Given the description of an element on the screen output the (x, y) to click on. 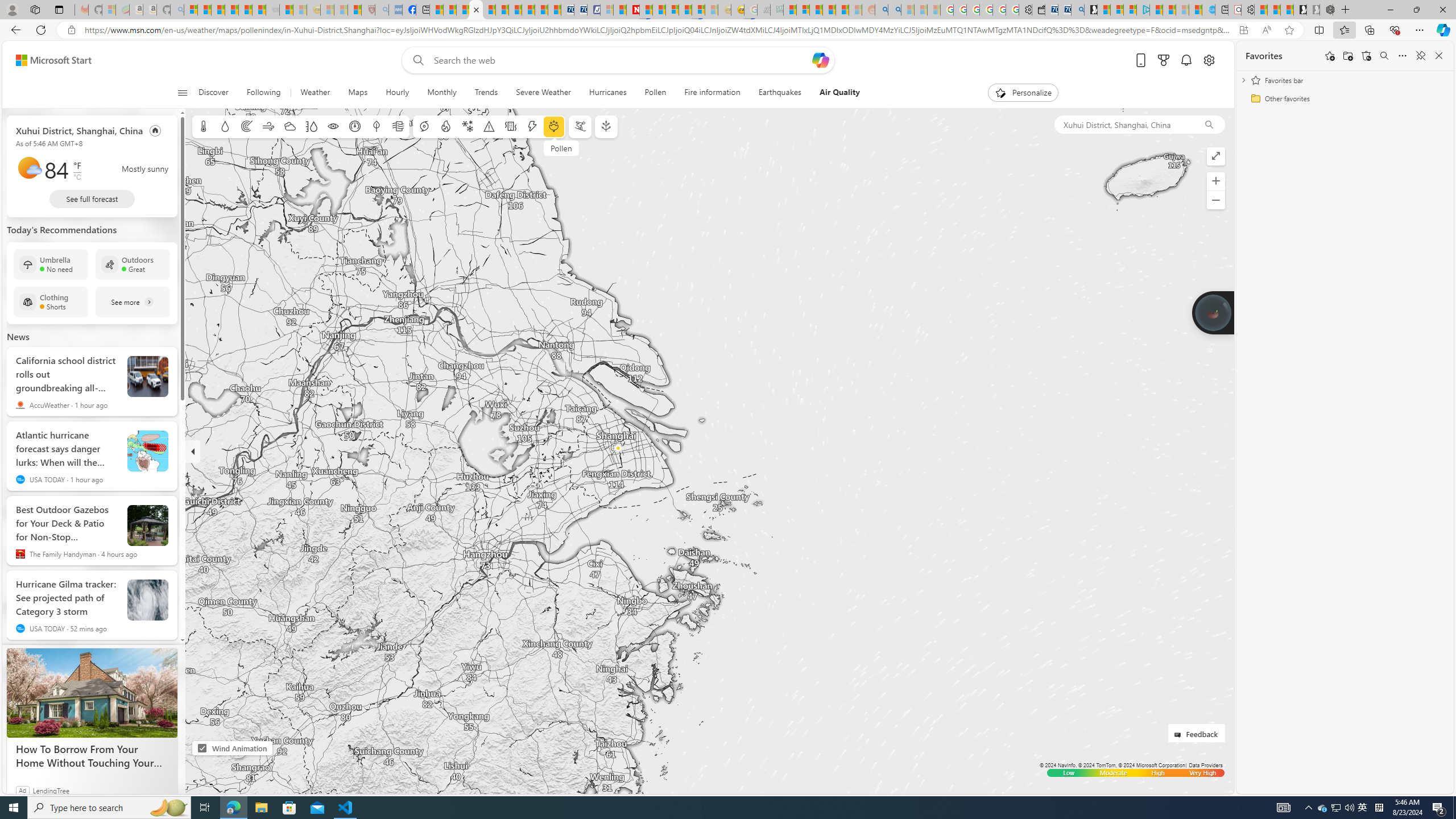
Wallet (1037, 9)
Humidity (311, 126)
Zoom out (1215, 199)
Join us in planting real trees to help our planet! (1213, 311)
14 Common Myths Debunked By Scientific Facts (659, 9)
Enter full screen mode (1215, 156)
